Given the description of an element on the screen output the (x, y) to click on. 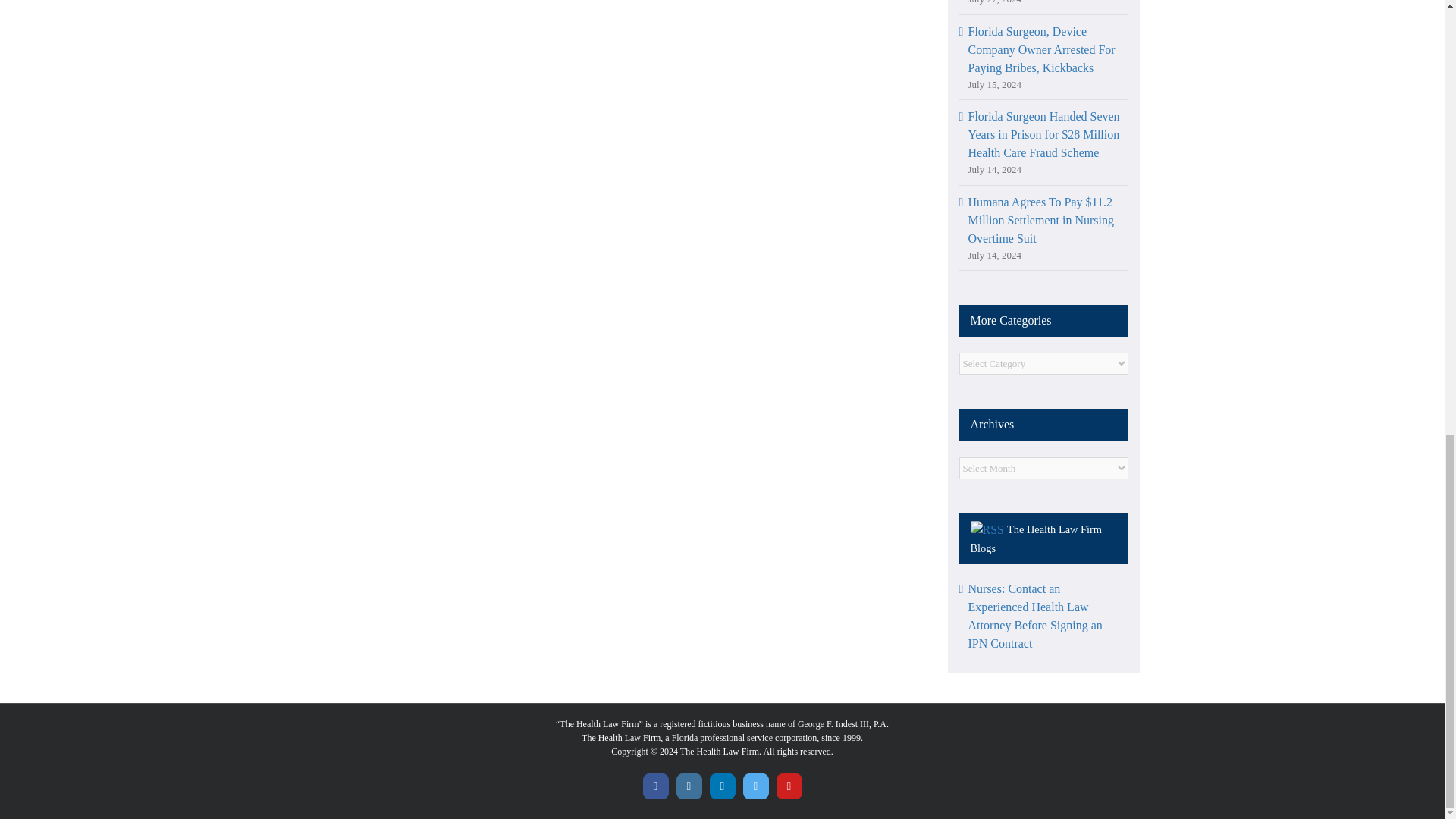
LinkedIn (722, 786)
YouTube (789, 786)
Instagram (689, 786)
Twitter (755, 786)
Facebook (655, 786)
